Given the description of an element on the screen output the (x, y) to click on. 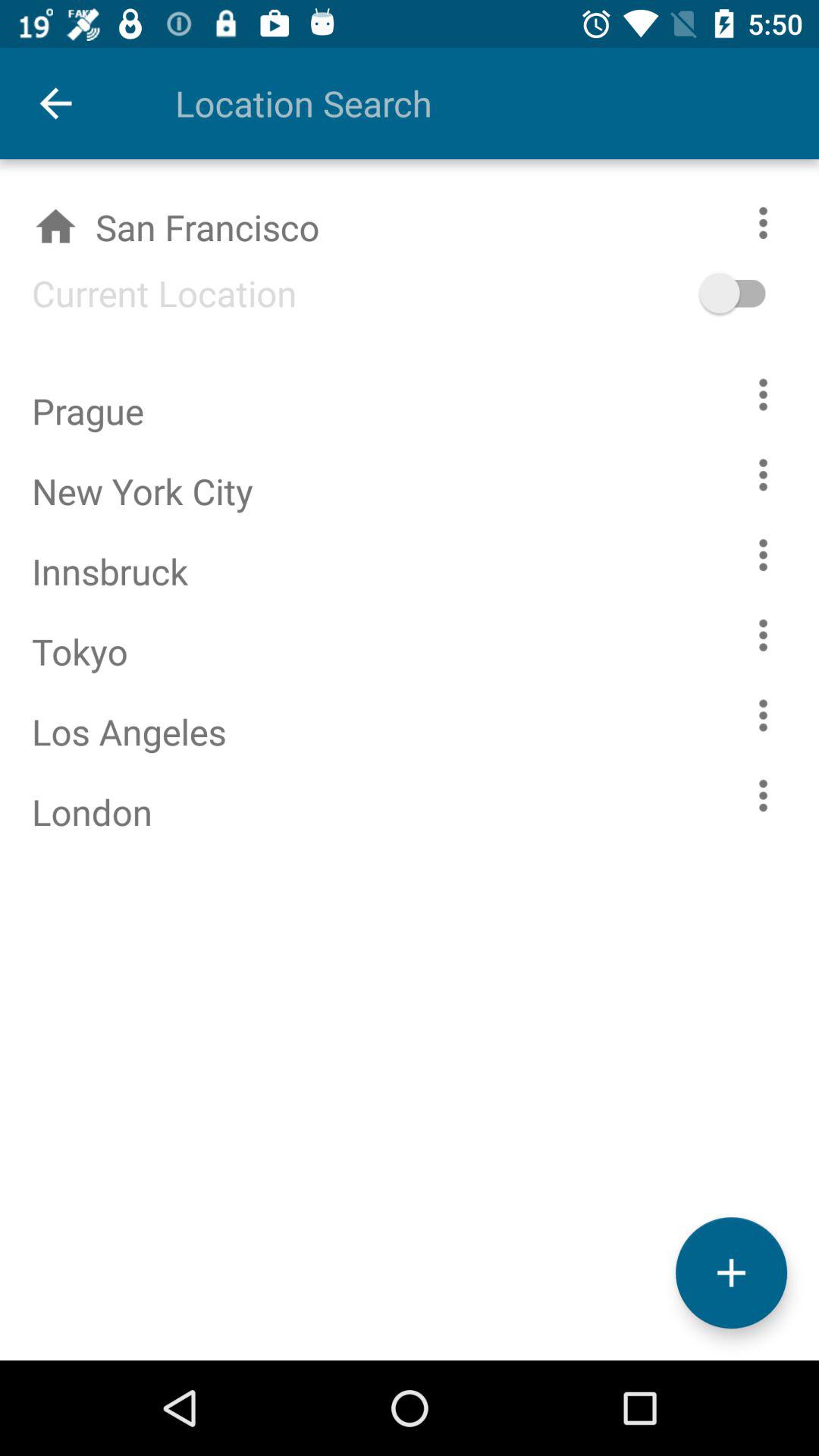
launch icon above the san francisco icon (55, 103)
